Given the description of an element on the screen output the (x, y) to click on. 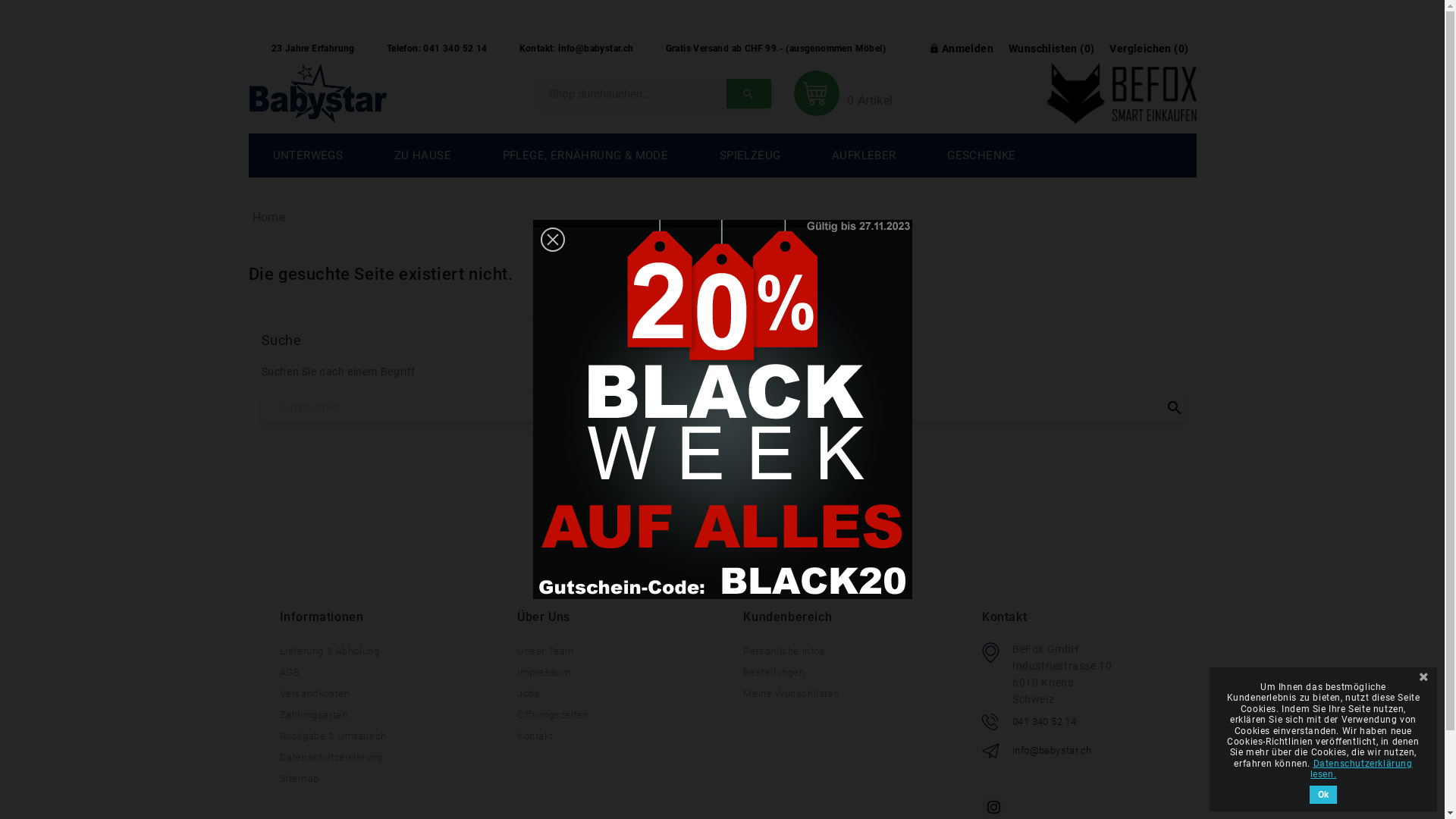
041 340 52 14 Element type: text (1044, 721)
Ok Element type: text (1322, 794)
Home Element type: text (268, 217)
Kundenbereich Element type: text (844, 616)
UNTERWEGS Element type: text (307, 155)
Wunschlisten (0) Element type: text (1051, 45)
Zahlungsarten Element type: text (313, 714)
Lieferung & Abholung Element type: text (329, 650)
Impressum Element type: text (544, 671)
AGB Element type: text (289, 671)
GESCHENKE Element type: text (981, 155)
Bestellungen Element type: text (773, 671)
Unser Team Element type: text (545, 650)
Versandkosten Element type: text (314, 693)
Jobs Element type: text (528, 693)
Vergleichen (0) Element type: text (1148, 45)
Warenkorb
0 Artikel Element type: text (850, 93)
Meine Wunschlisten Element type: text (791, 693)
info@babystar.ch Element type: text (1051, 750)
AUFKLEBER Element type: text (863, 155)
ZU HAUSE Element type: text (422, 155)
Anmelden Element type: text (960, 45)
Sitemap Element type: text (298, 778)
SPIELZEUG Element type: text (750, 155)
Kontakt Element type: text (534, 735)
